Given the description of an element on the screen output the (x, y) to click on. 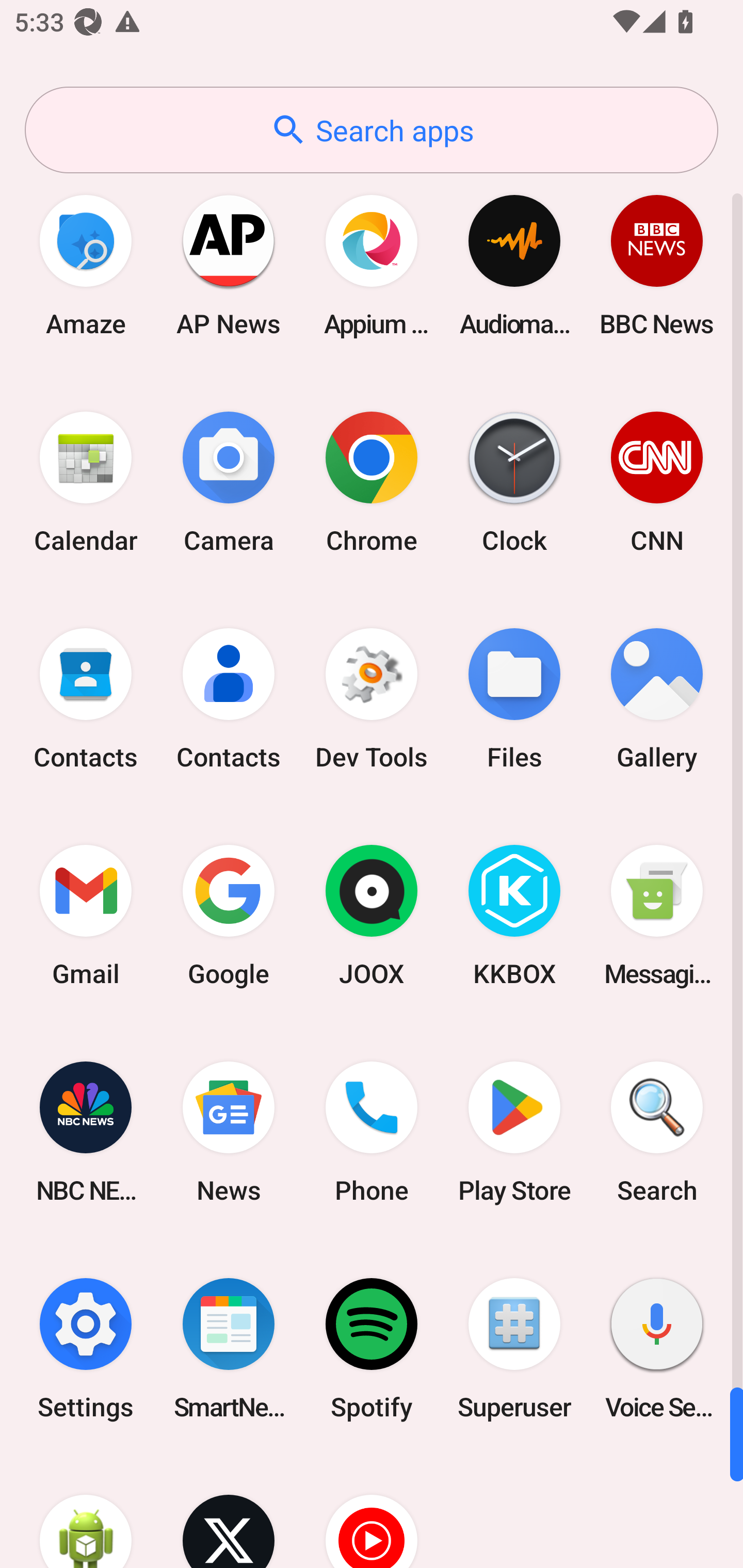
  Search apps (371, 130)
Amaze (85, 264)
AP News (228, 264)
Appium Settings (371, 264)
Audio­mack (514, 264)
BBC News (656, 264)
Calendar (85, 482)
Camera (228, 482)
Chrome (371, 482)
Clock (514, 482)
CNN (656, 482)
Contacts (85, 699)
Contacts (228, 699)
Dev Tools (371, 699)
Files (514, 699)
Gallery (656, 699)
Gmail (85, 915)
Google (228, 915)
JOOX (371, 915)
KKBOX (514, 915)
Messaging (656, 915)
NBC NEWS (85, 1131)
News (228, 1131)
Phone (371, 1131)
Play Store (514, 1131)
Search (656, 1131)
Settings (85, 1348)
SmartNews (228, 1348)
Spotify (371, 1348)
Superuser (514, 1348)
Voice Search (656, 1348)
WebView Browser Tester (85, 1512)
X (228, 1512)
YT Music (371, 1512)
